Given the description of an element on the screen output the (x, y) to click on. 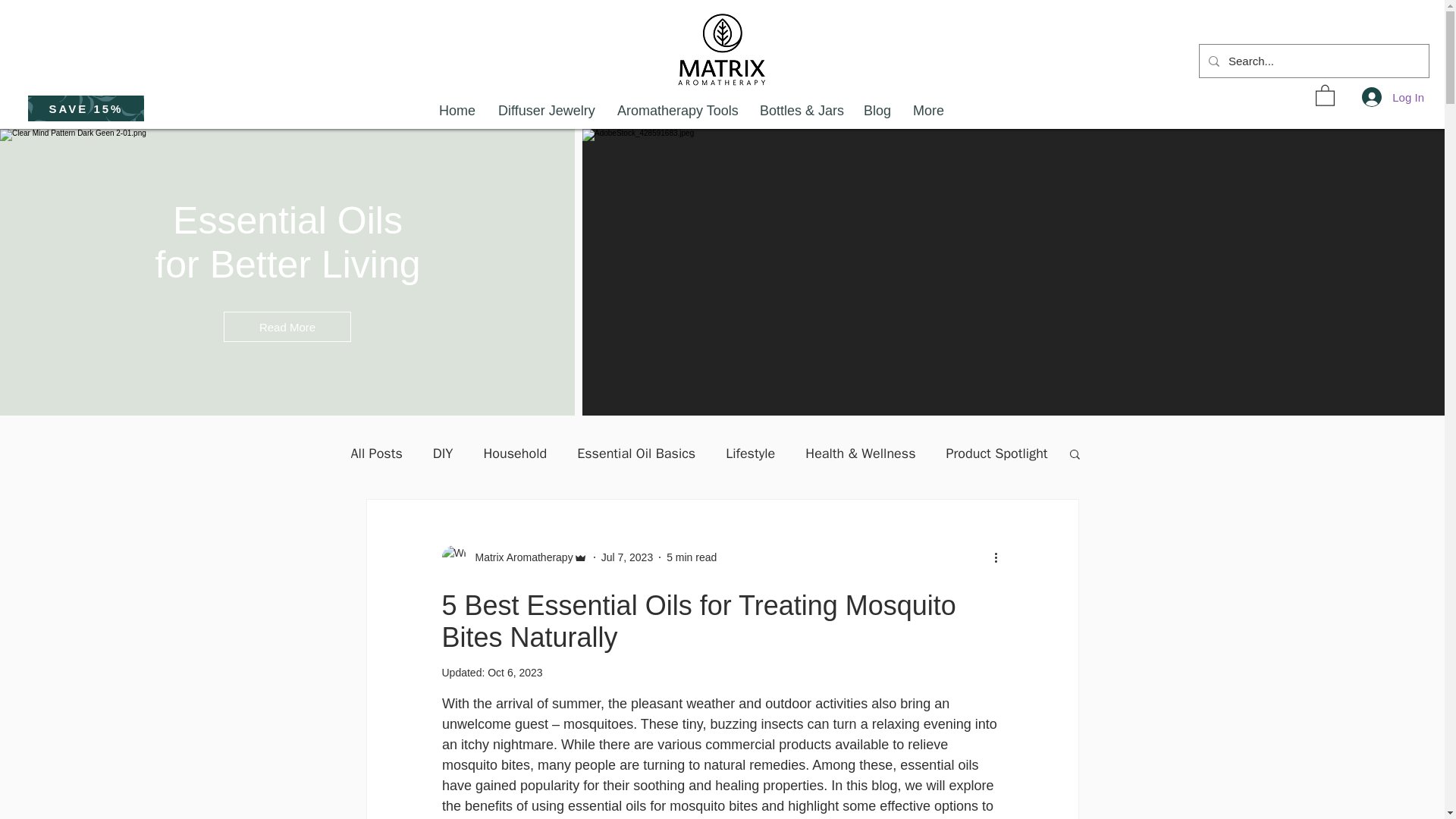
Essential Oil Basics (635, 453)
Oct 6, 2023 (514, 672)
Diffuser Jewelry (546, 110)
Matrix Aromatherapy (518, 556)
Matrix Aromatherapy (513, 557)
All Posts (375, 453)
DIY (442, 453)
Household (515, 453)
Blog (882, 110)
Lifestyle (749, 453)
